Given the description of an element on the screen output the (x, y) to click on. 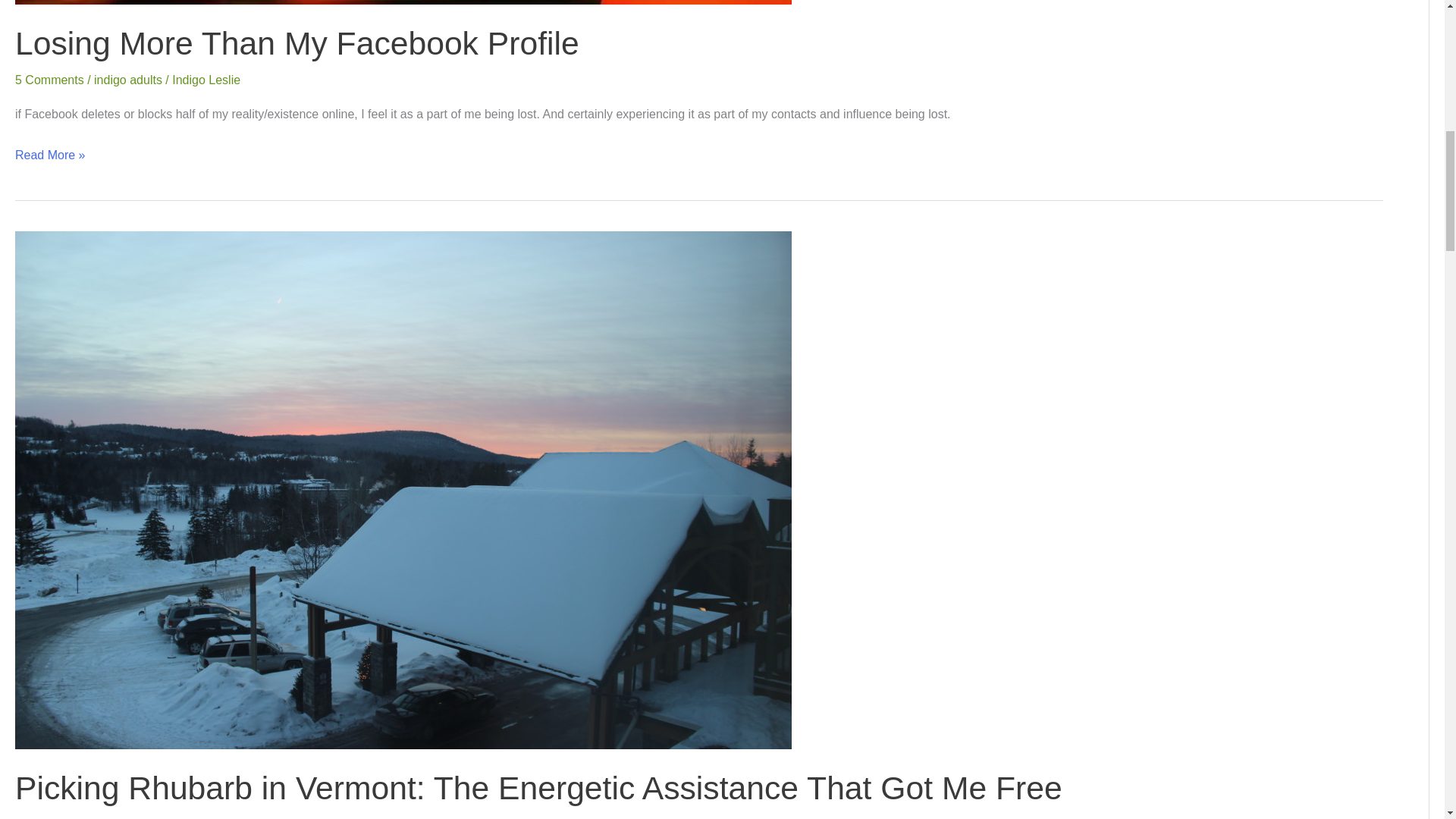
indigo adults (341, 818)
View all posts by Indigo Leslie (418, 818)
indigo adults (127, 79)
View all posts by Indigo Leslie (205, 79)
Losing More Than My Facebook Profile (296, 43)
Indigo Leslie (205, 79)
5 Comments (49, 79)
